Given the description of an element on the screen output the (x, y) to click on. 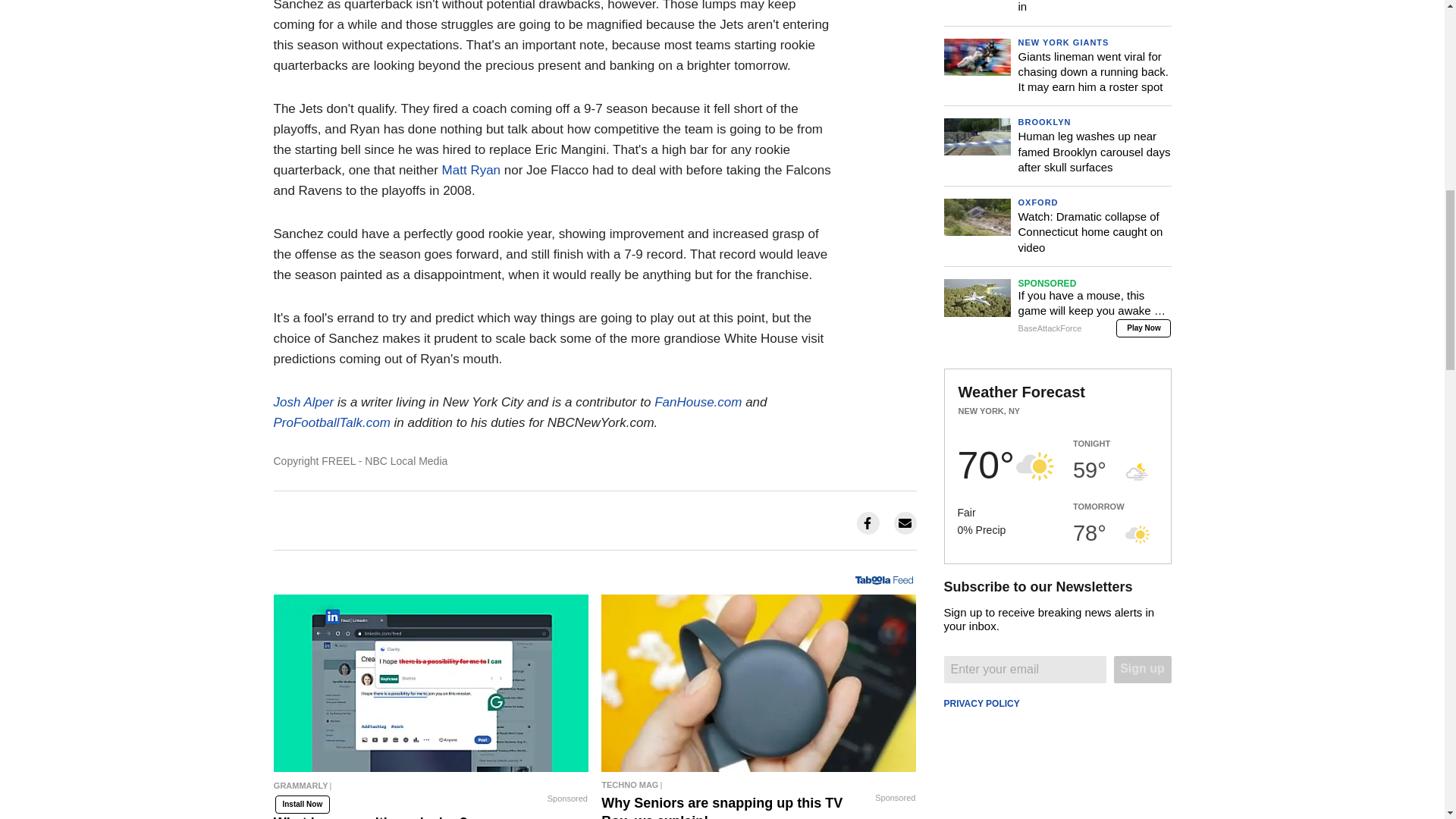
Josh Alper (303, 401)
ProFootballTalk.com (331, 422)
What is your writing missing? (430, 788)
Matt Ryan (471, 169)
Why Seniors are snapping up this TV Box, we explain! (758, 783)
FanHouse.com (697, 401)
